Given the description of an element on the screen output the (x, y) to click on. 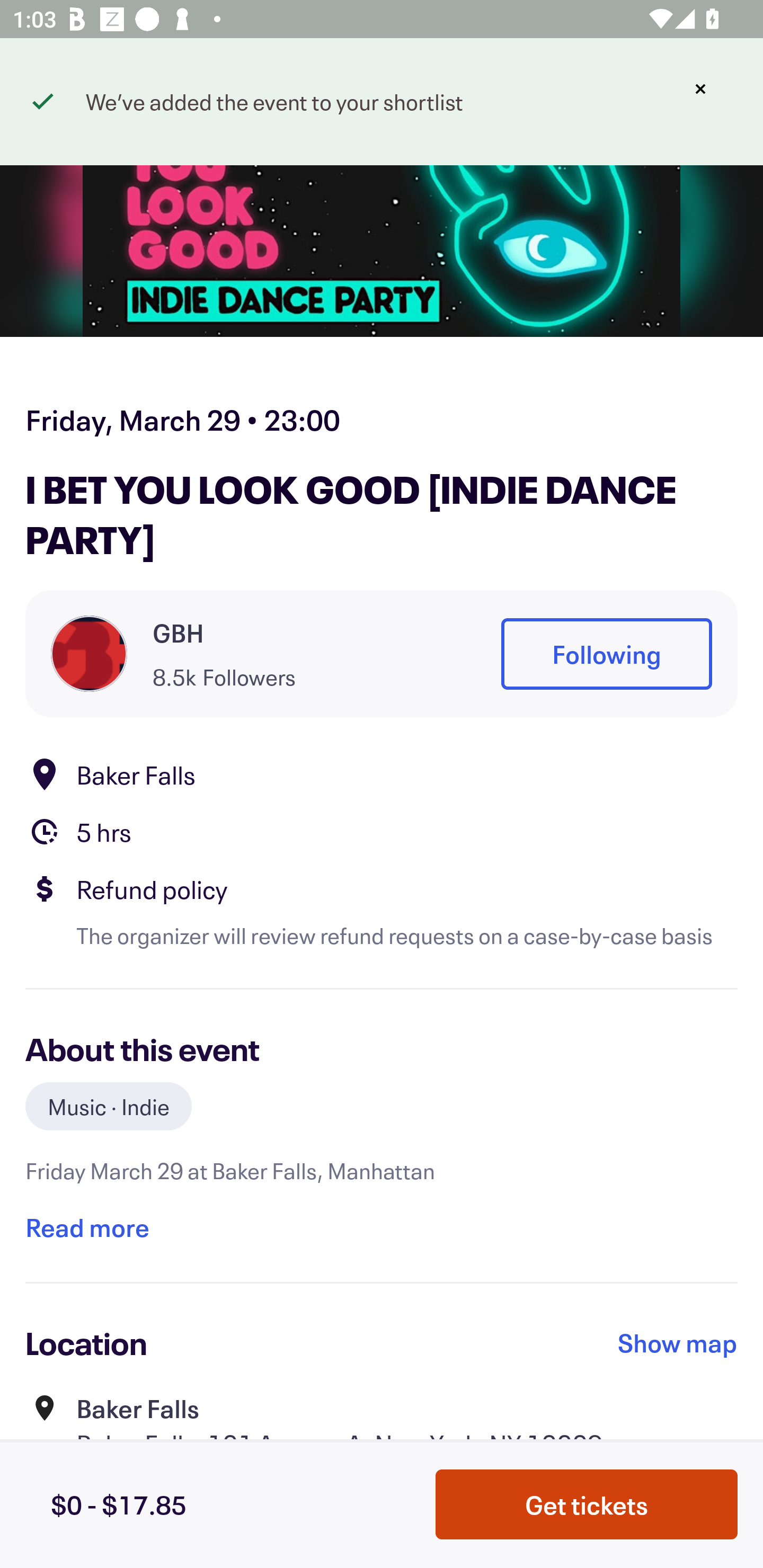
Dismiss notification (700, 89)
Back (57, 94)
GBH (178, 632)
Organizer profile picture (89, 653)
Following (606, 654)
Location Baker Falls (381, 774)
Read more (87, 1226)
Show map (677, 1342)
Get tickets (586, 1504)
